Given the description of an element on the screen output the (x, y) to click on. 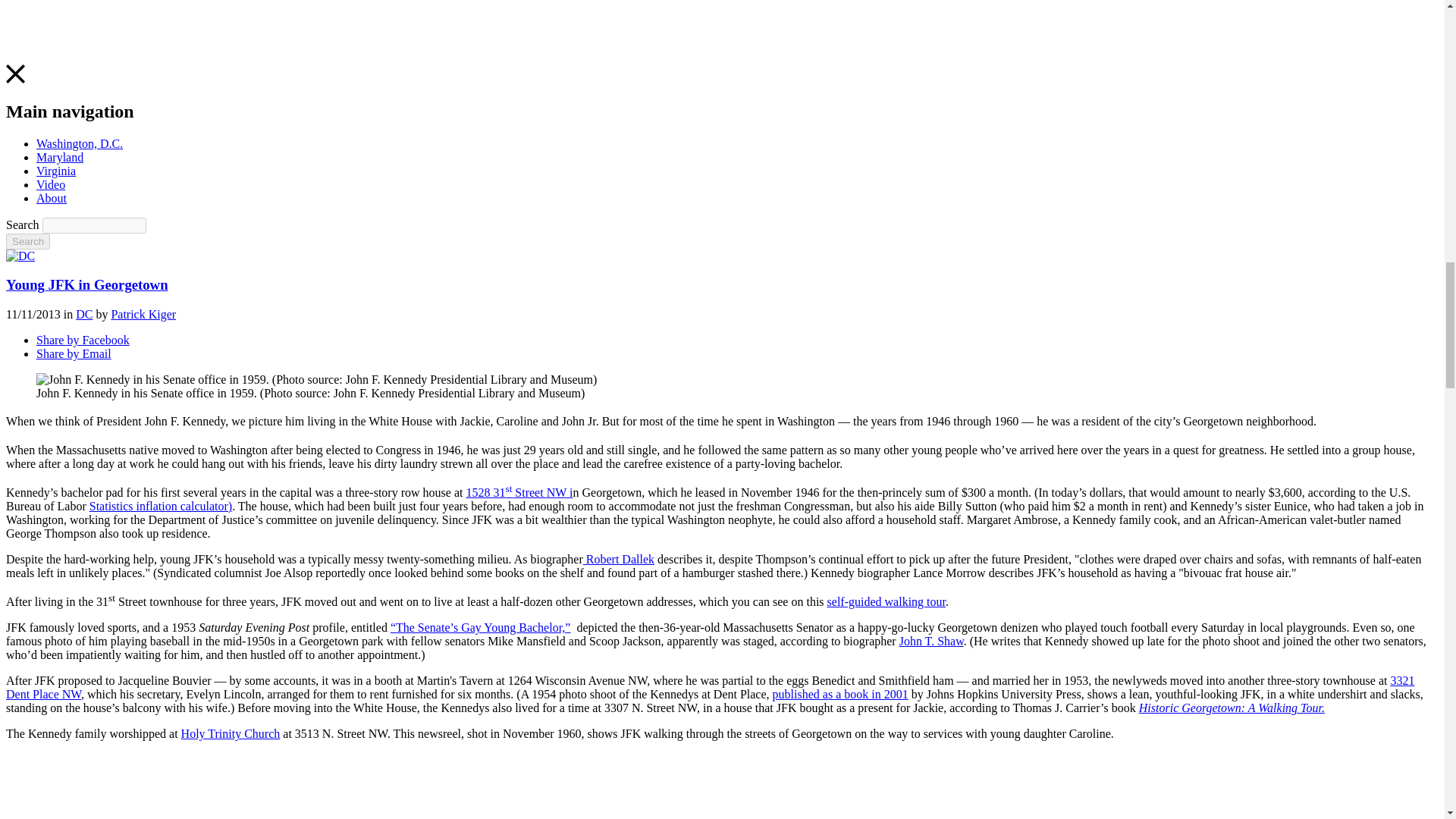
3321 Dent Place NW (709, 687)
John T. Shaw (931, 640)
View user profile. (143, 314)
DC (84, 314)
published as a book in 2001 (840, 694)
Virginia (55, 170)
Enter the terms you wish to search for. (94, 225)
Maryland (59, 156)
About (51, 197)
IFrame (248, 797)
Holy Trinity Church (230, 733)
Patrick Kiger (143, 314)
Young JFK in Georgetown (86, 284)
Share by Facebook (82, 339)
Share by Email (74, 353)
